Given the description of an element on the screen output the (x, y) to click on. 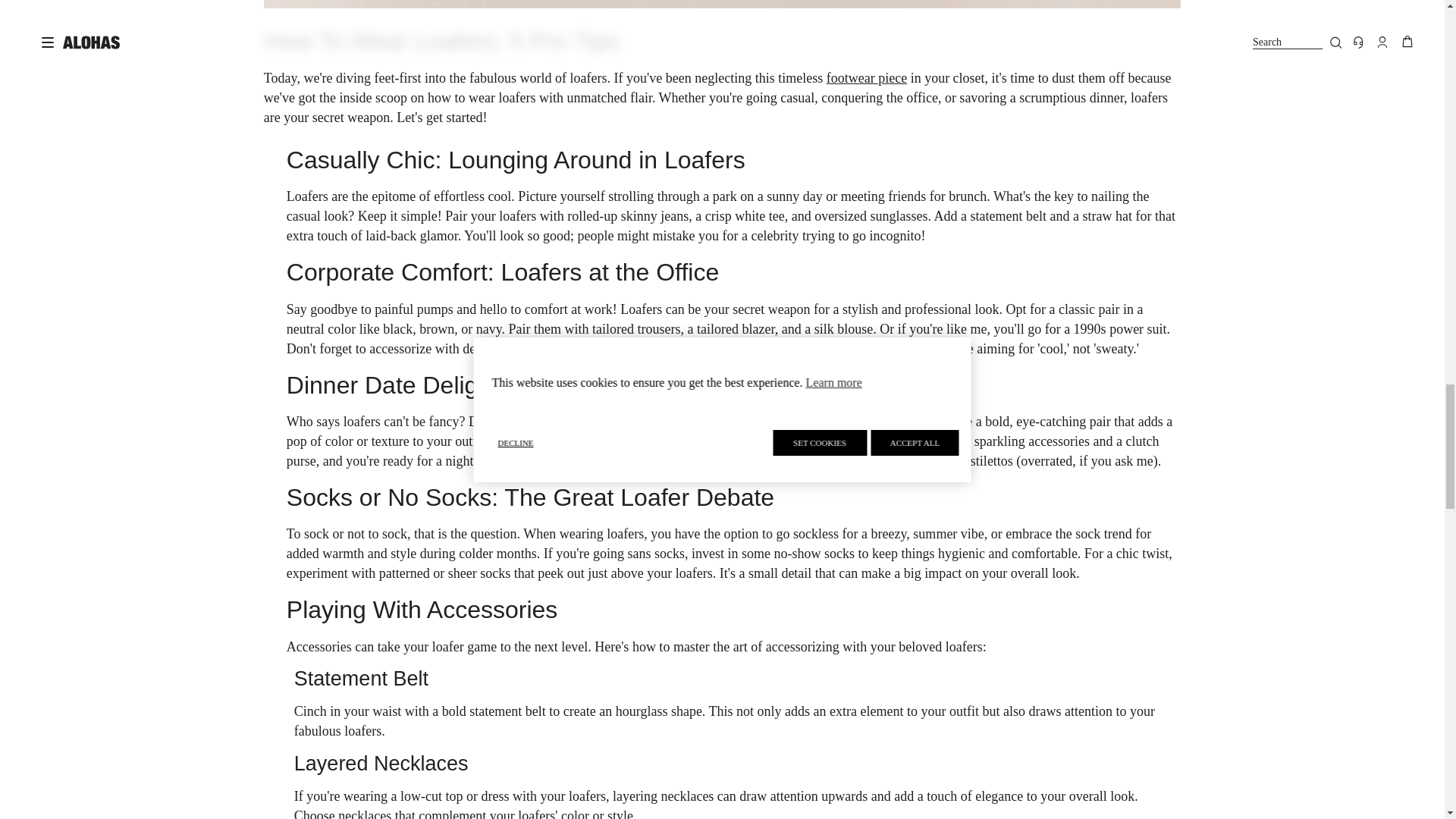
footwear (867, 77)
